Given the description of an element on the screen output the (x, y) to click on. 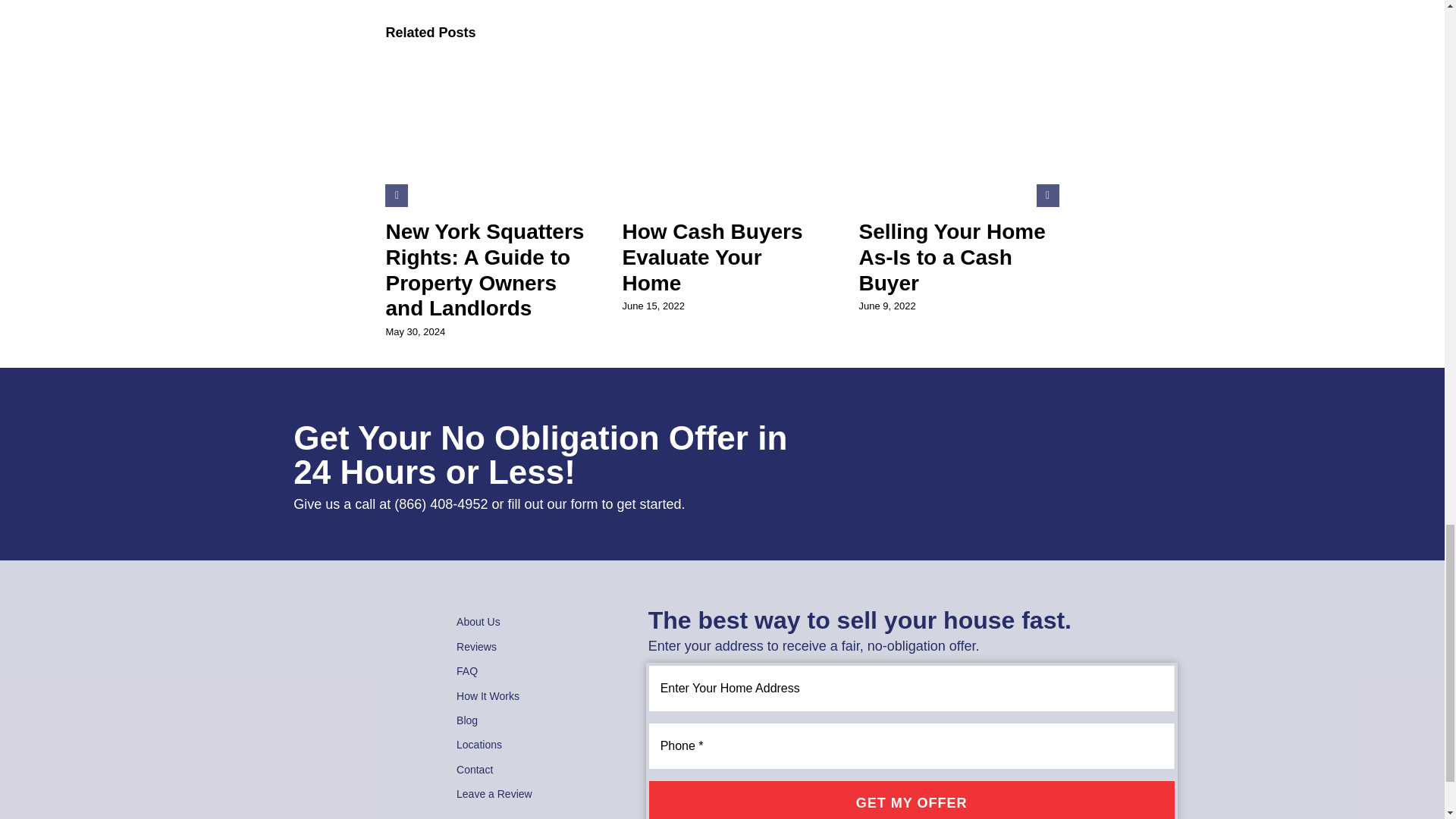
How Cash Buyers Evaluate Your Home (711, 257)
How Cash Buyers Evaluate Your Home (711, 257)
Get My Offer (911, 800)
Selling Your Home As-Is to a Cash Buyer (952, 257)
About Us (533, 621)
Selling Your Home As-Is to a Cash Buyer (952, 257)
Reviews (533, 646)
